Given the description of an element on the screen output the (x, y) to click on. 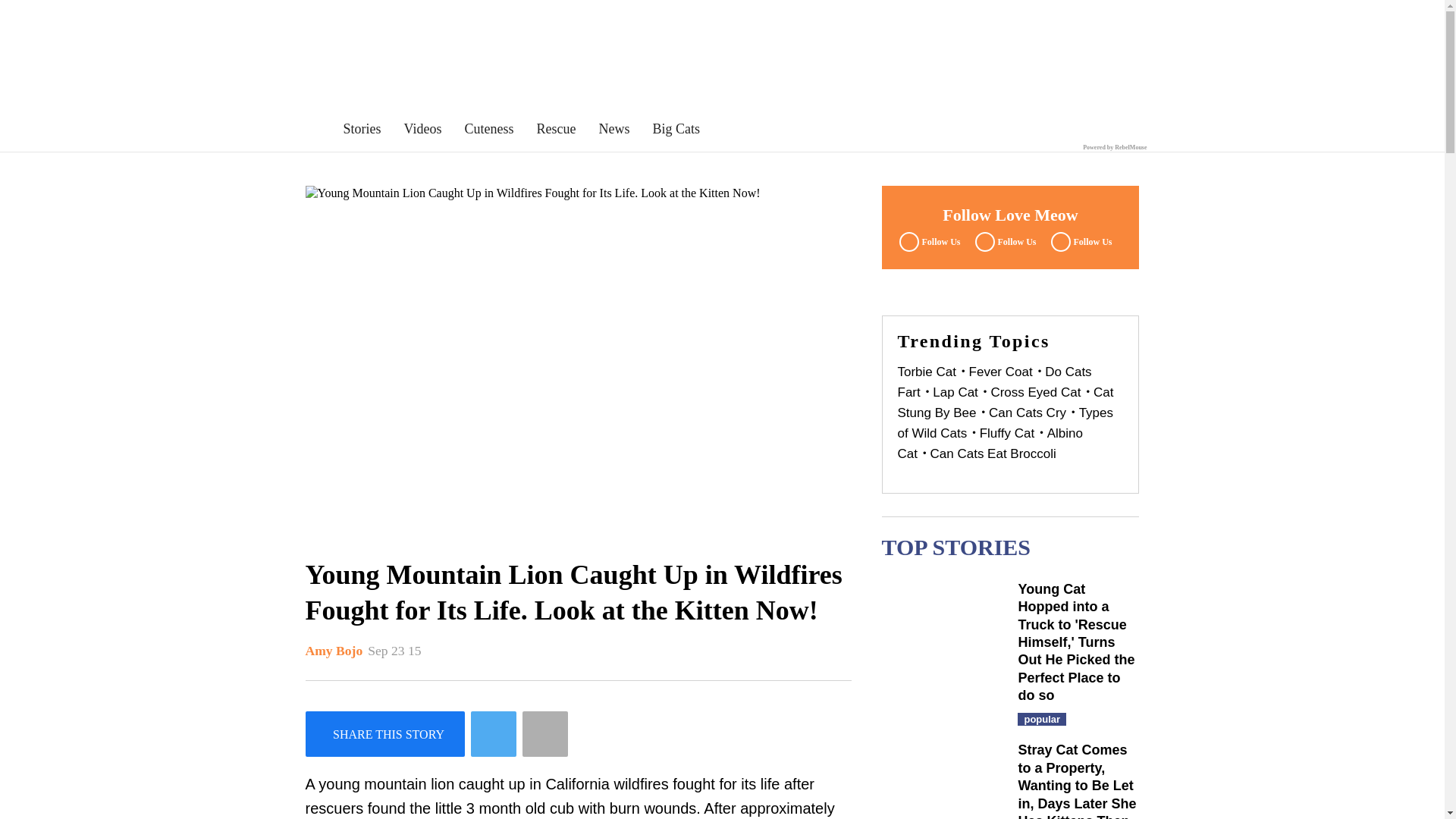
Twitter (1003, 241)
Best CMS (1115, 147)
Instagram (1079, 241)
Powered by RebelMouse (1115, 147)
Cuteness (488, 128)
Facebook (926, 241)
Amy Bojo (333, 651)
Big Cats (676, 128)
